Given the description of an element on the screen output the (x, y) to click on. 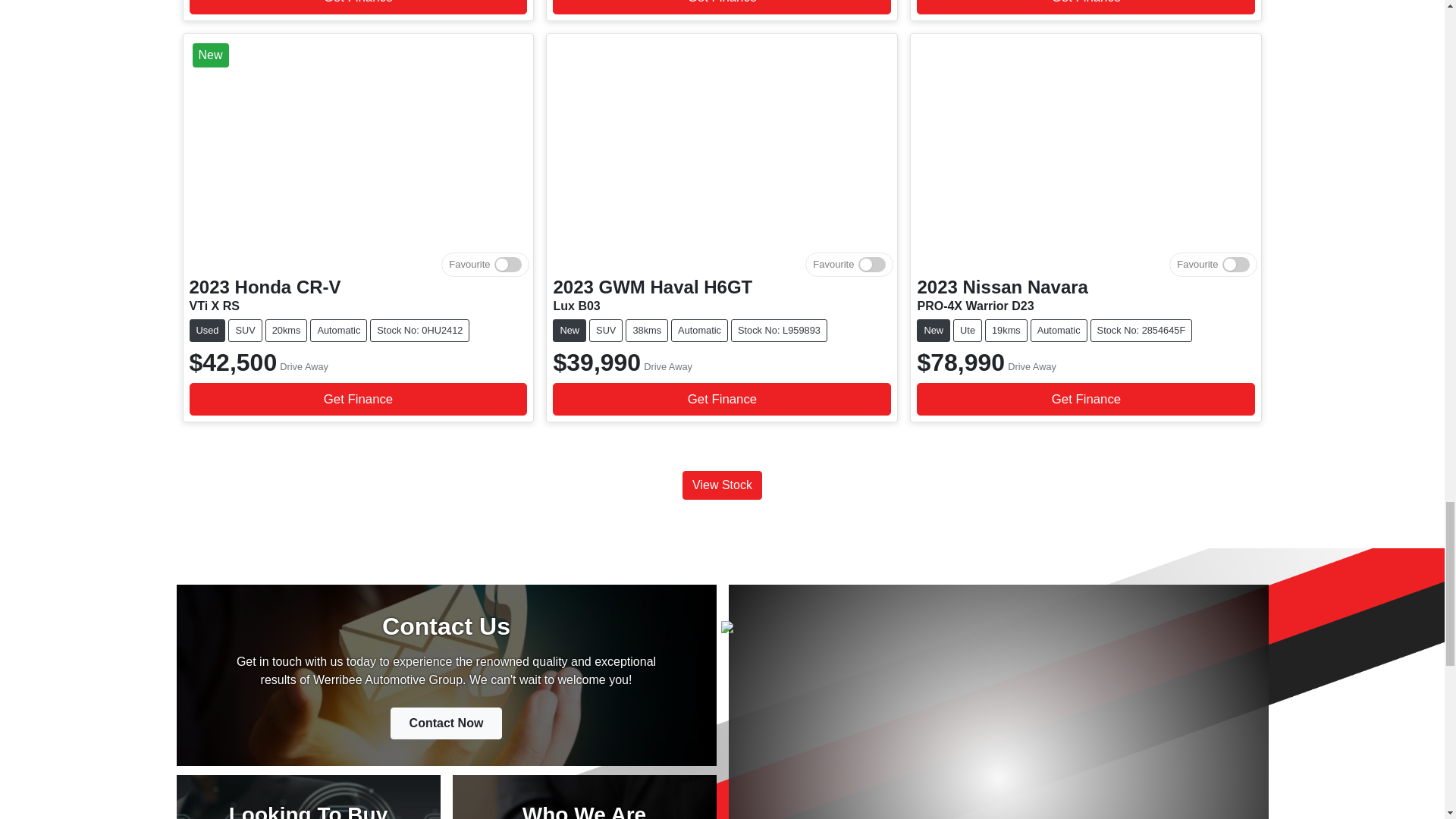
on (872, 265)
on (1236, 265)
on (508, 265)
